Given the description of an element on the screen output the (x, y) to click on. 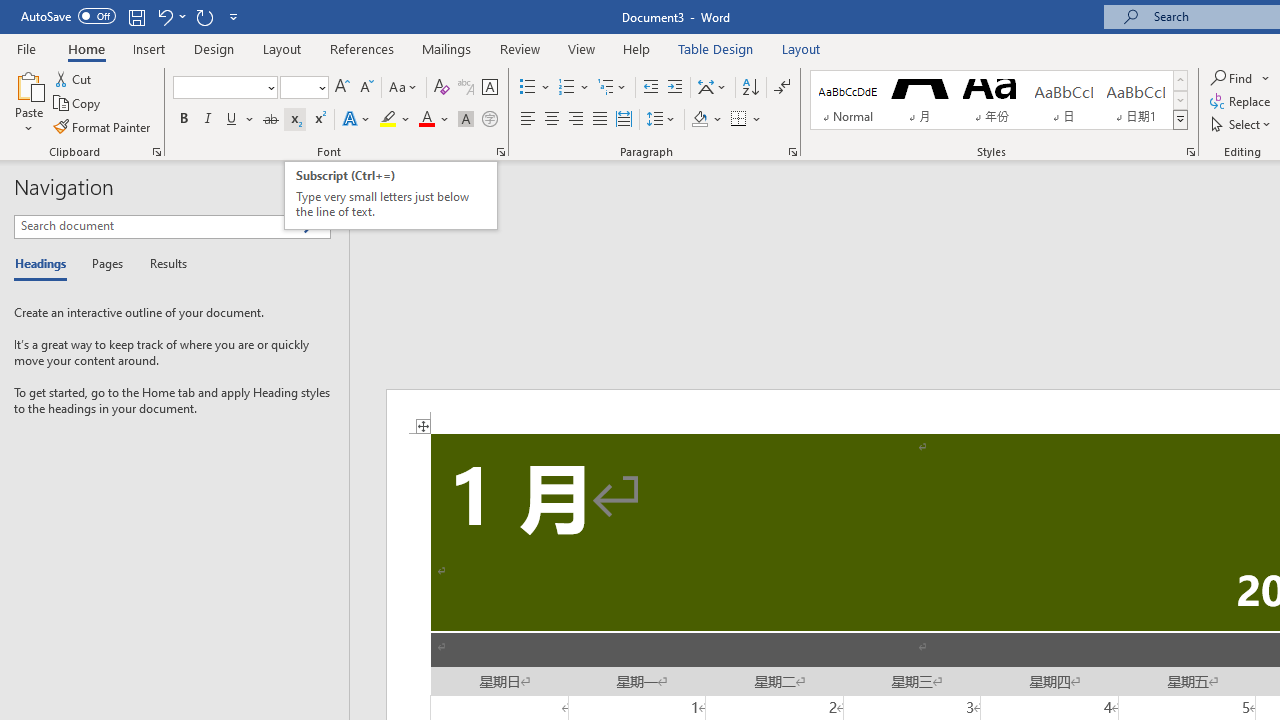
Results (161, 264)
Bold (183, 119)
Undo Shrink Font (170, 15)
Copy (78, 103)
Show/Hide Editing Marks (781, 87)
Row up (1179, 79)
Search document (157, 226)
Shading RGB(0, 0, 0) (699, 119)
